Given the description of an element on the screen output the (x, y) to click on. 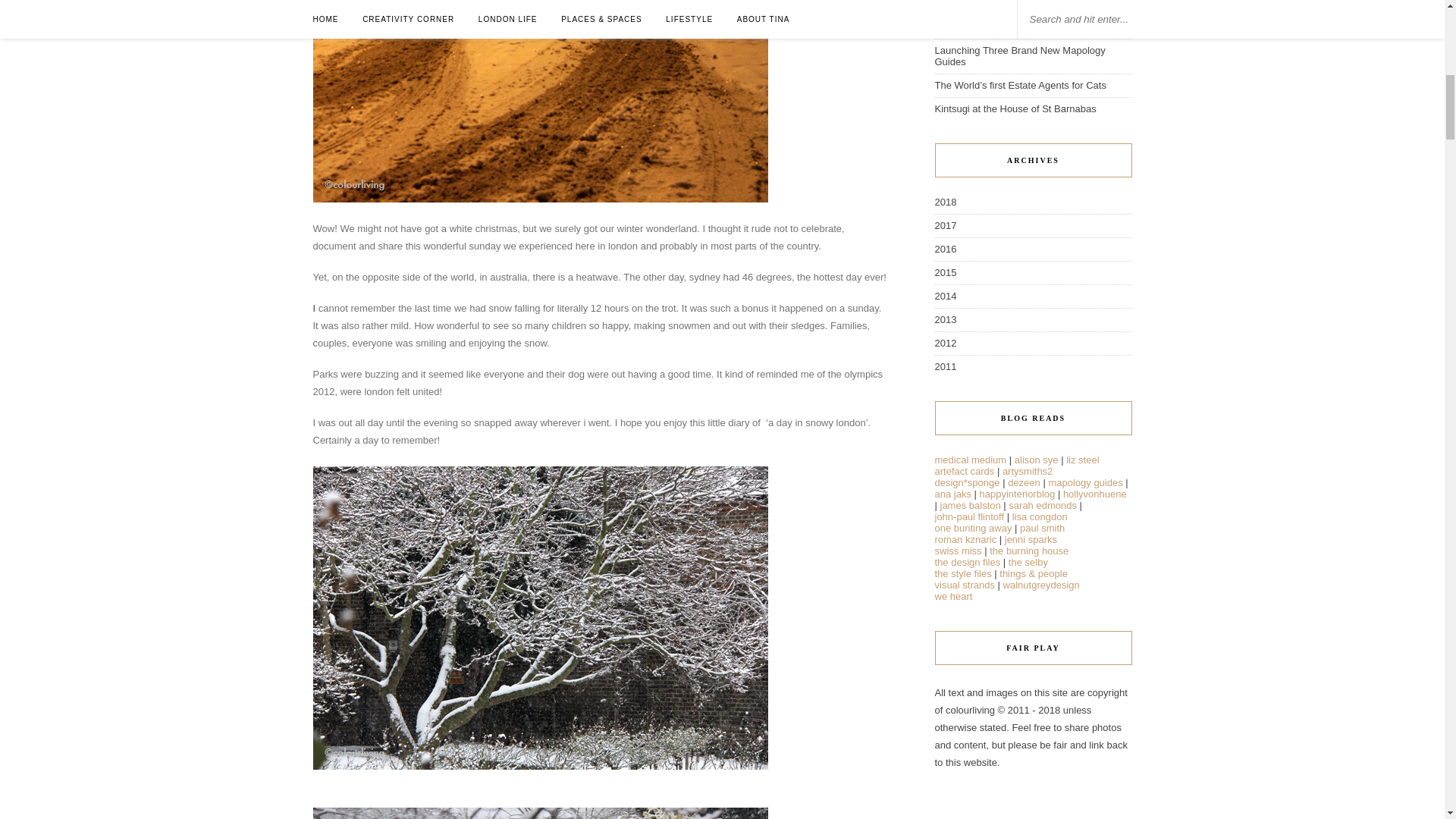
the-design-files (967, 562)
